Given the description of an element on the screen output the (x, y) to click on. 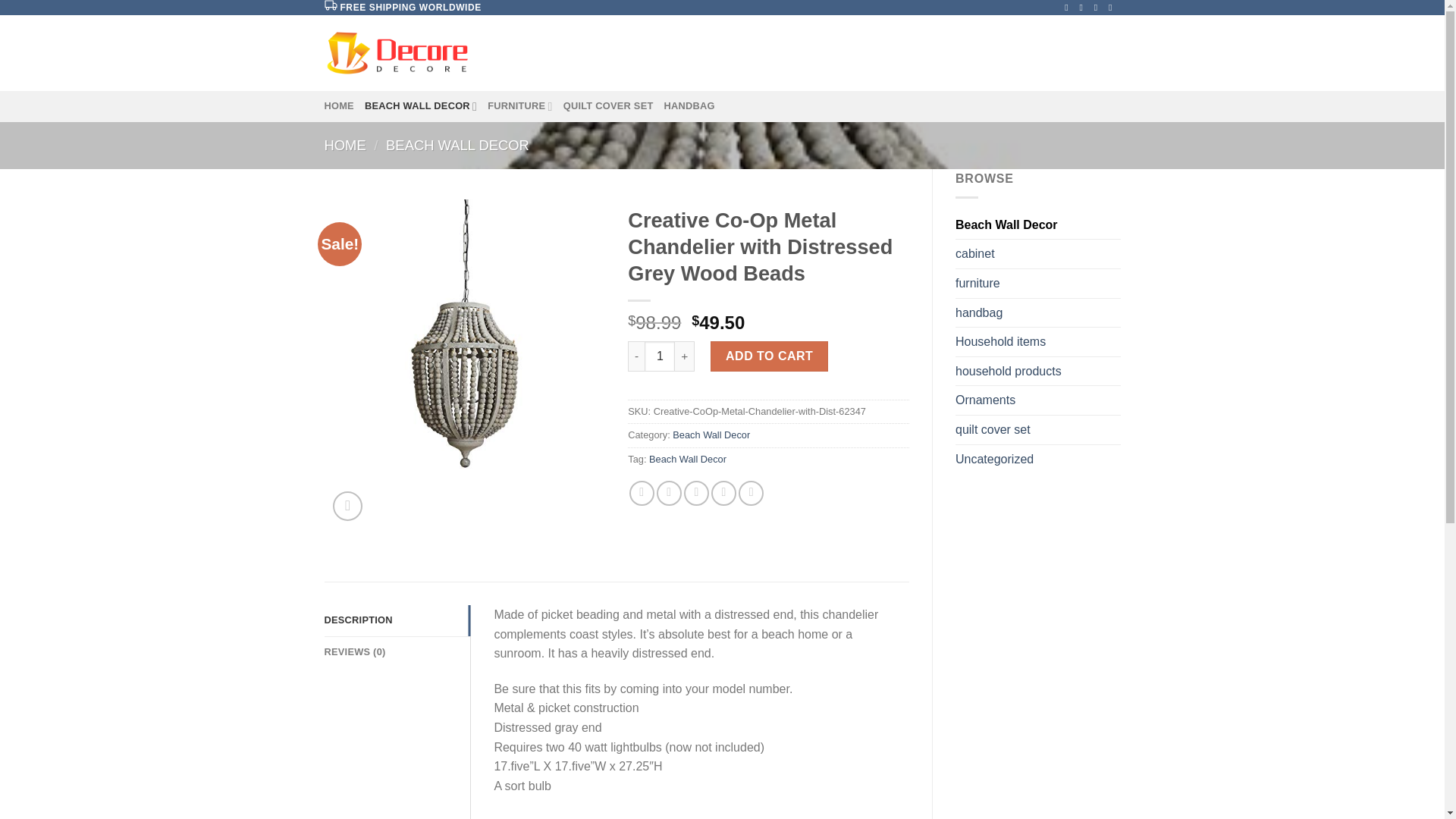
QUILT COVER SET (608, 105)
ADD TO CART (769, 356)
Zoom (347, 505)
HOME (338, 105)
LOGIN (983, 52)
Email to a Friend (696, 493)
Share on Twitter (668, 493)
Household items (1038, 341)
Beach Wall Decor (687, 459)
BEDW47379.jpg (464, 339)
household products (1038, 371)
quilt cover set (1038, 429)
HANDBAG (688, 105)
cabinet (1038, 253)
Uncategorized (1038, 459)
